Given the description of an element on the screen output the (x, y) to click on. 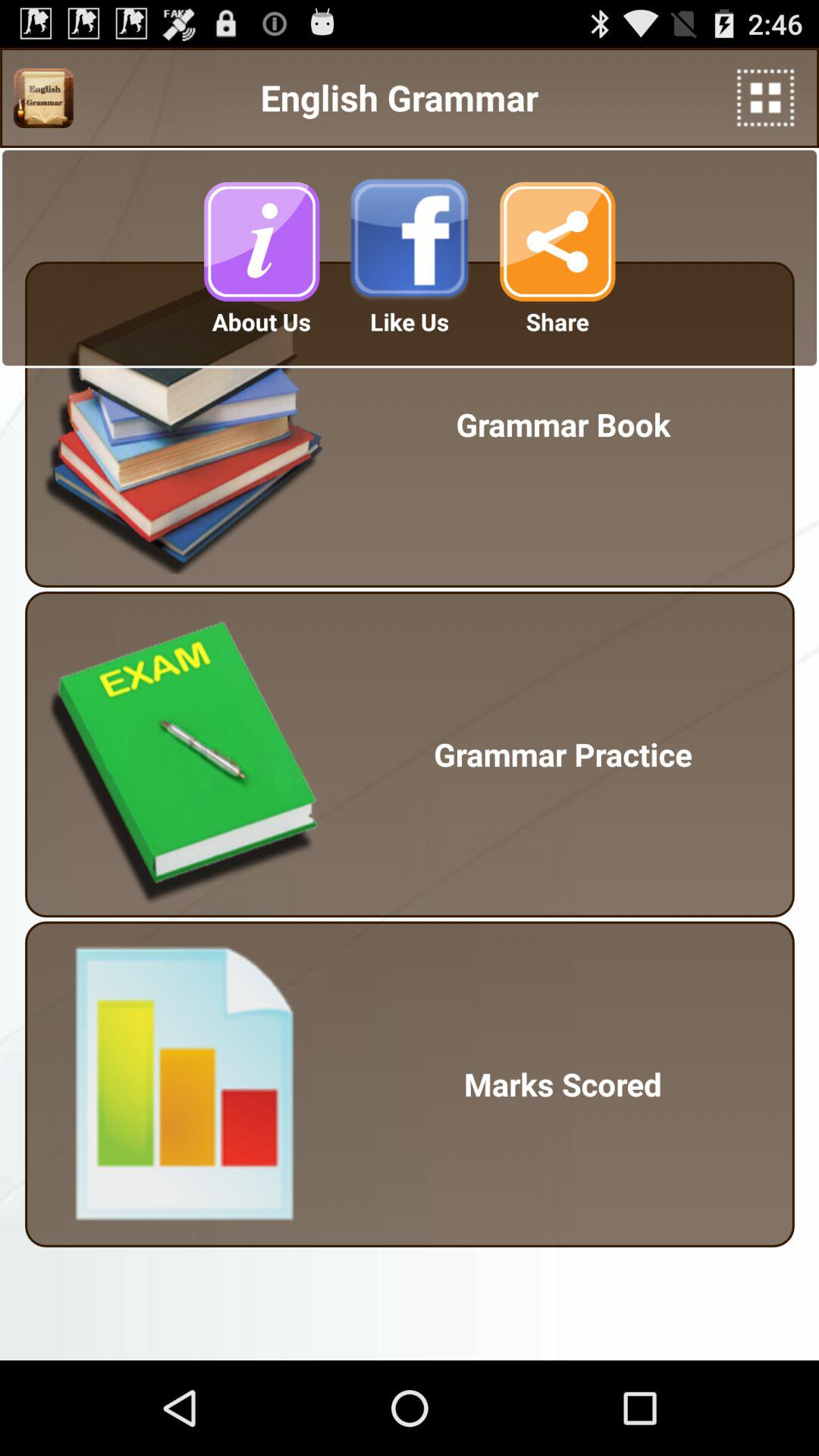
the button is used to share the page to others (557, 241)
